Given the description of an element on the screen output the (x, y) to click on. 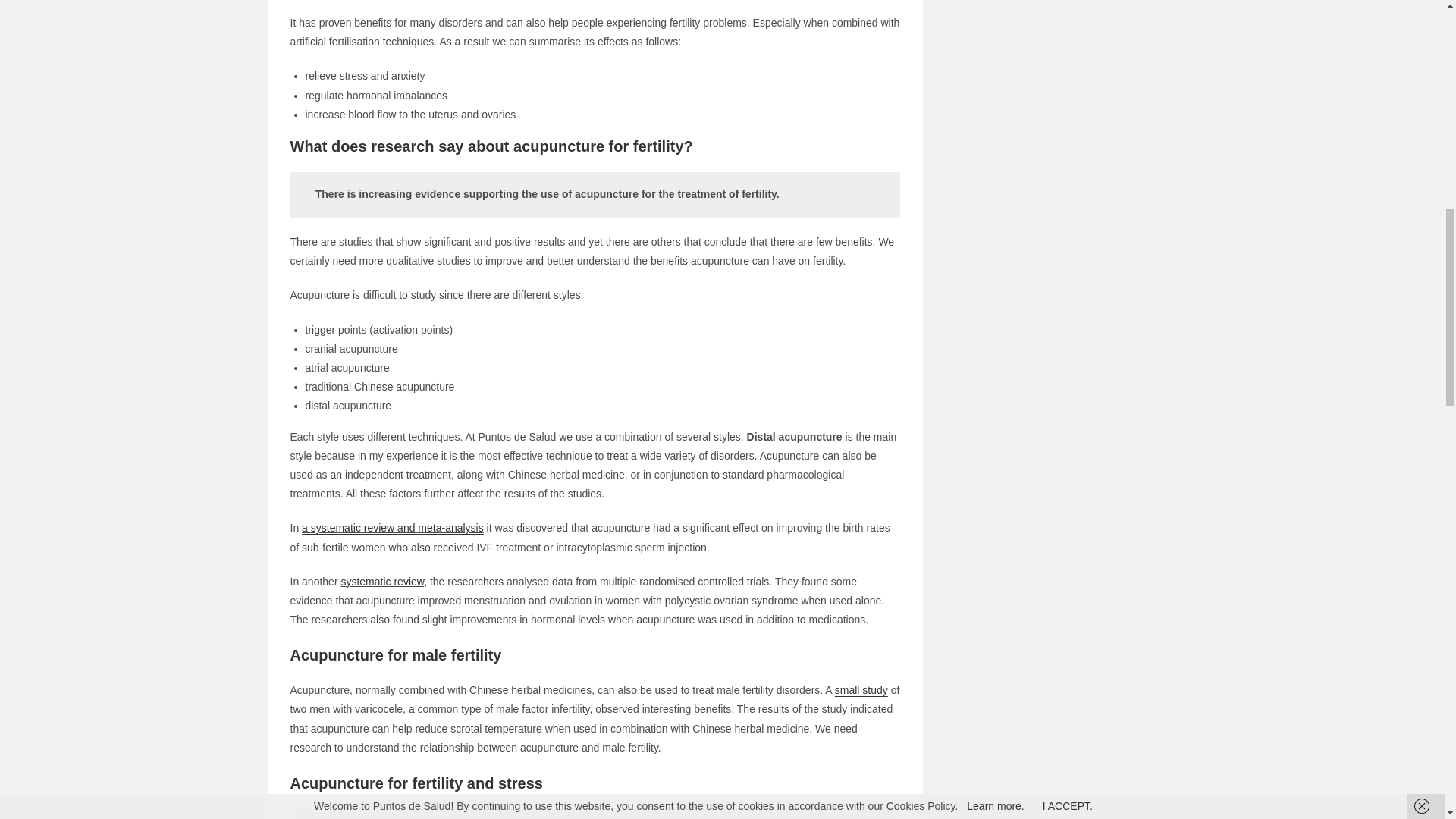
small study (861, 689)
a systematic review and meta-analysis (392, 527)
systematic review (381, 581)
